Given the description of an element on the screen output the (x, y) to click on. 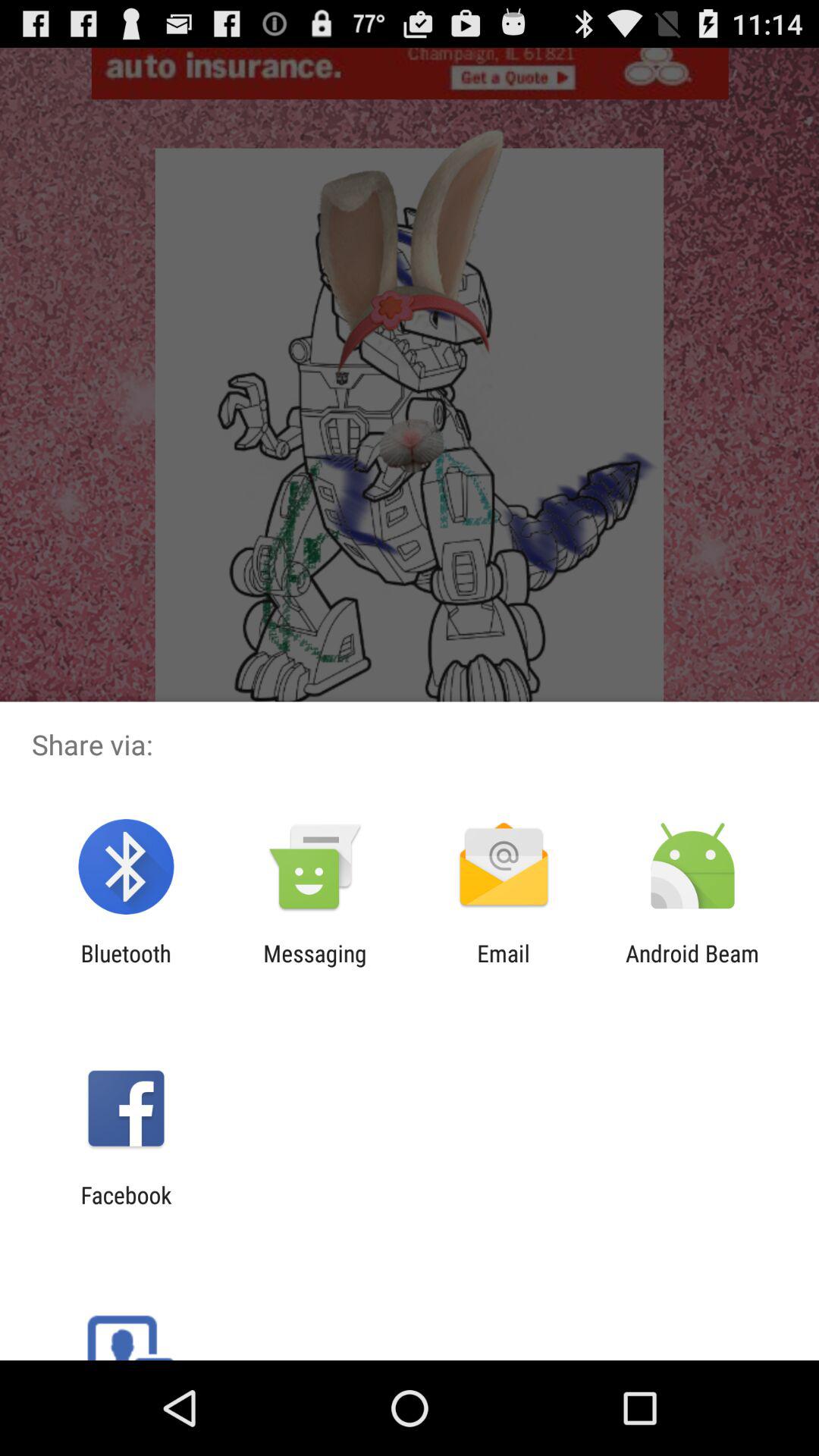
open icon next to the bluetooth (314, 966)
